Given the description of an element on the screen output the (x, y) to click on. 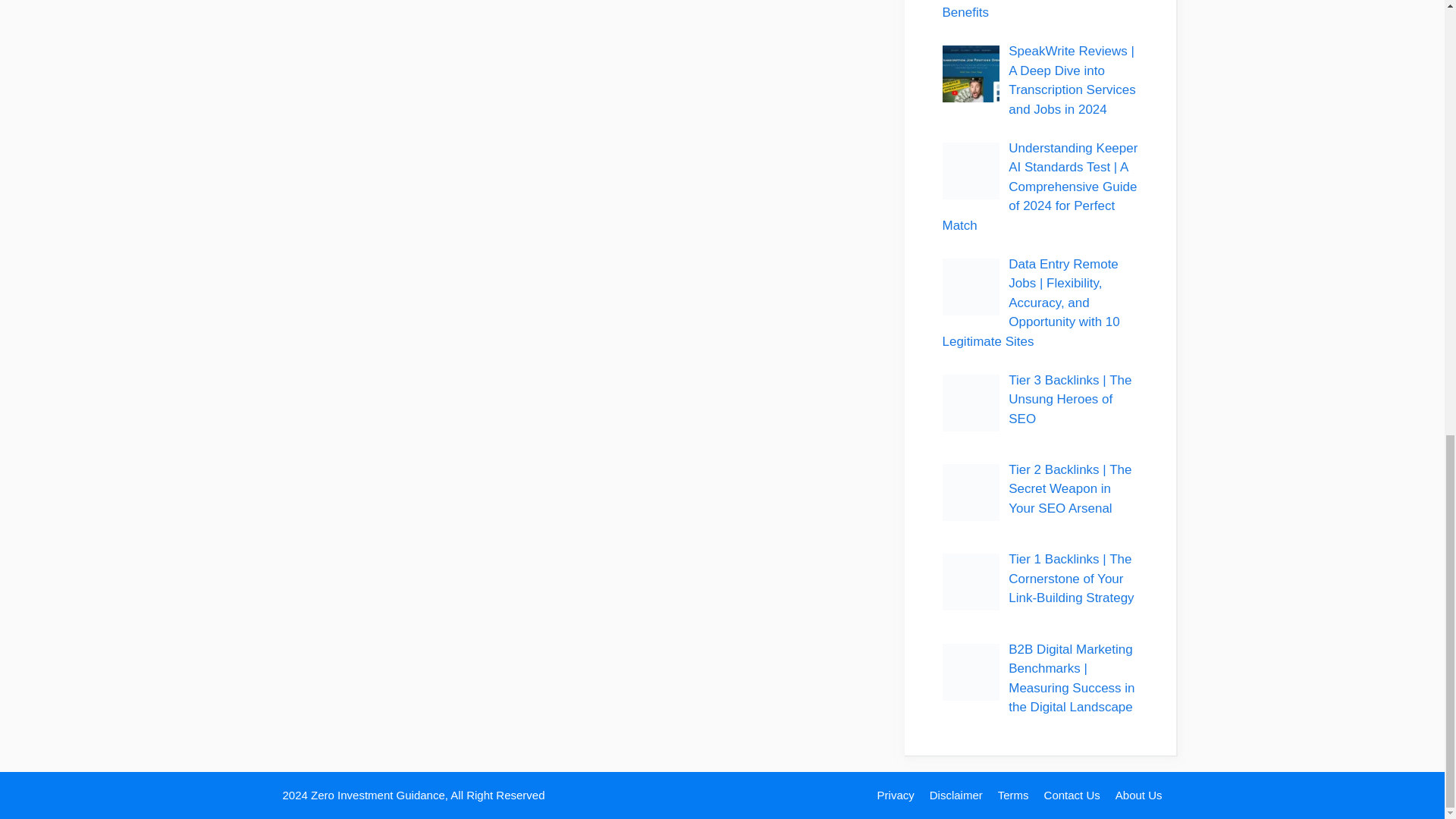
Disclaimer (956, 794)
Terms (1013, 794)
Contact Us (1071, 794)
Scroll back to top (1406, 607)
Privacy (895, 794)
About Us (1138, 794)
